Given the description of an element on the screen output the (x, y) to click on. 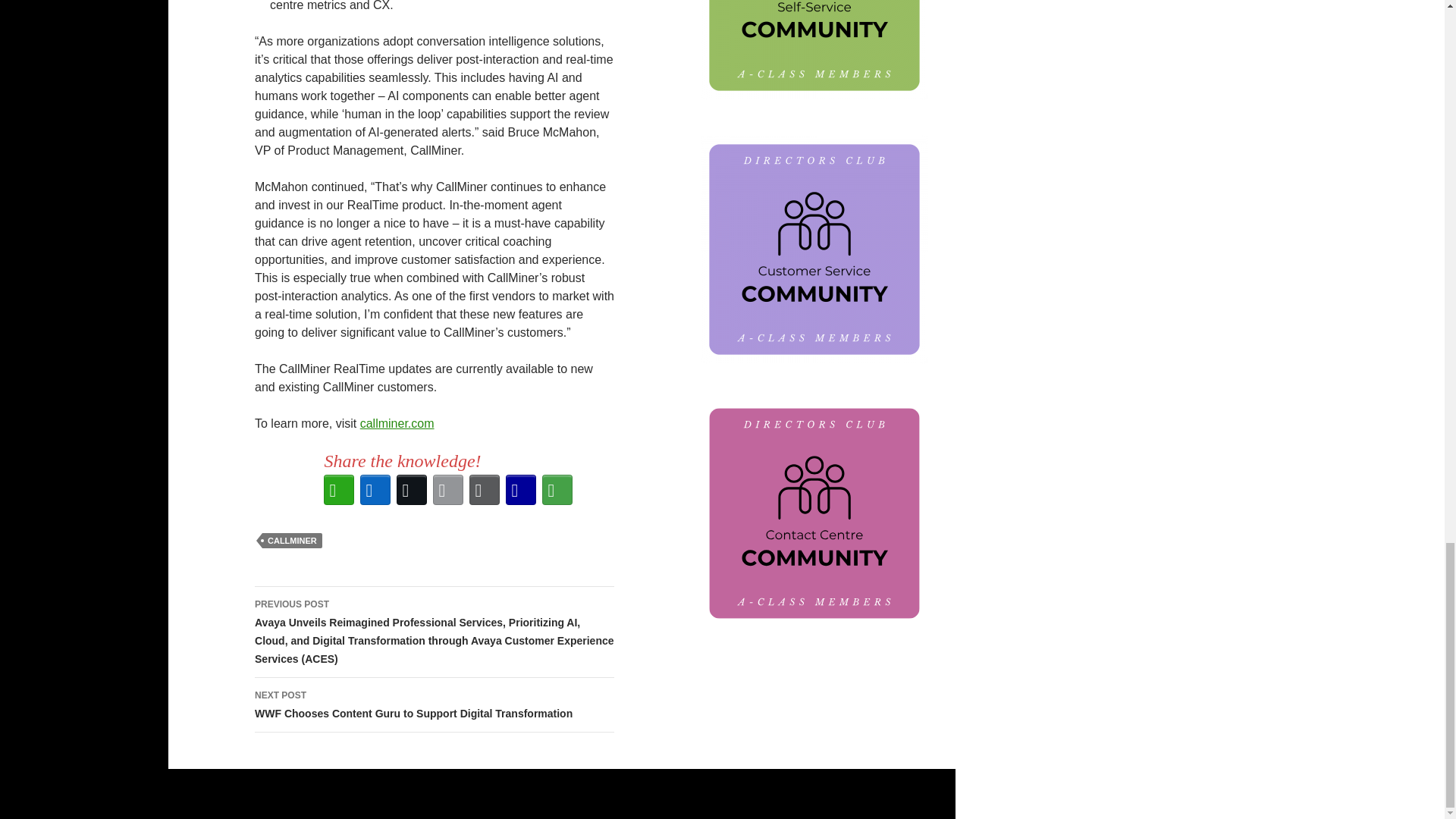
LinkedIn (374, 489)
CALLMINER (291, 540)
More Options (556, 489)
TinyURL (520, 489)
callminer.com (396, 422)
Print (483, 489)
WhatsApp (338, 489)
Email This (447, 489)
